Given the description of an element on the screen output the (x, y) to click on. 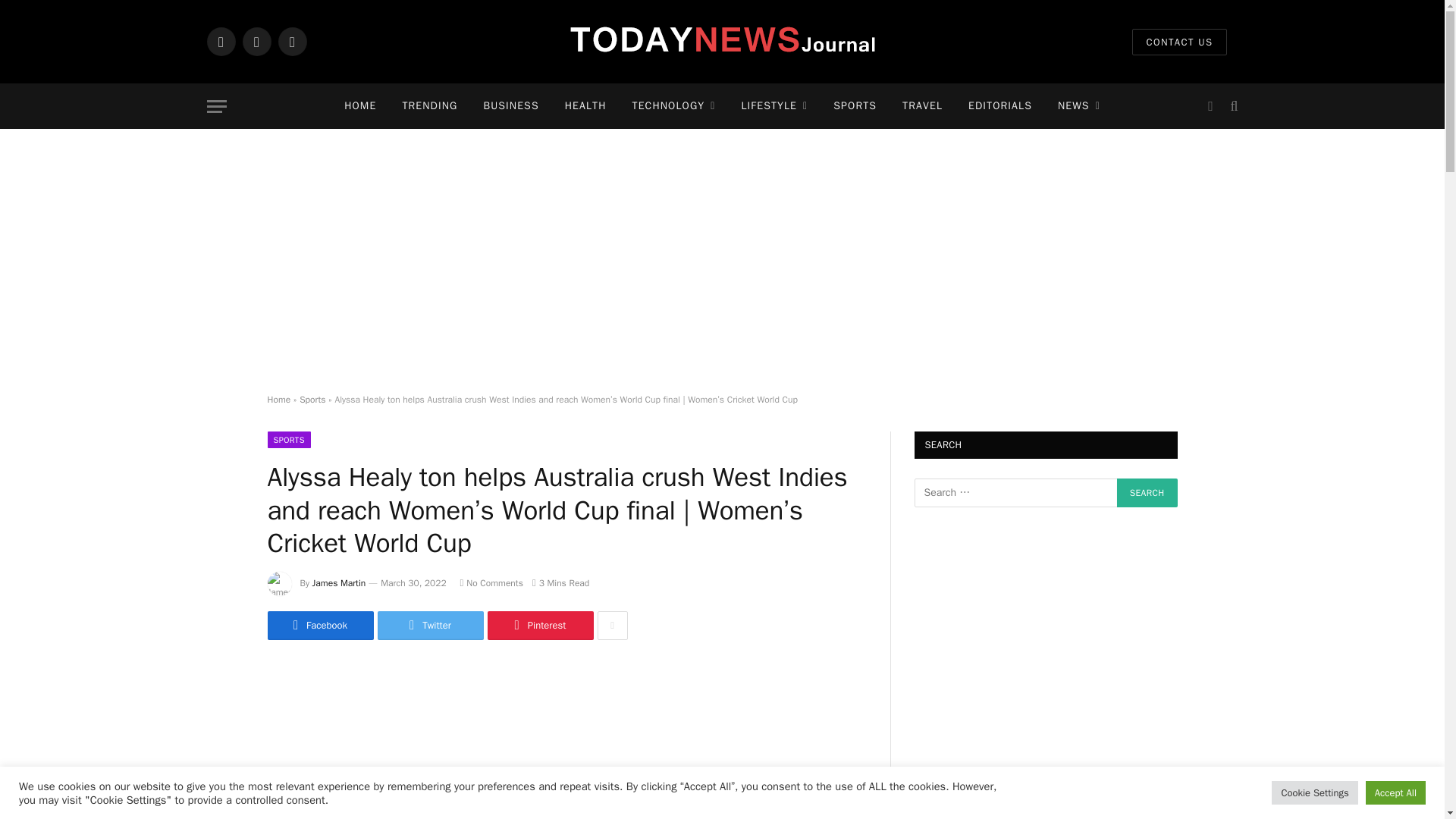
Posts by James Martin (339, 582)
Share on Facebook (319, 624)
CONTACT US (1178, 41)
TRAVEL (922, 105)
Search (1232, 106)
HOME (359, 105)
SPORTS (855, 105)
NEWS (1079, 105)
LIFESTYLE (774, 105)
Facebook (220, 41)
TRENDING (429, 105)
Today News Journal (721, 41)
Switch to Dark Design - easier on eyes. (1209, 106)
HEALTH (585, 105)
